Given the description of an element on the screen output the (x, y) to click on. 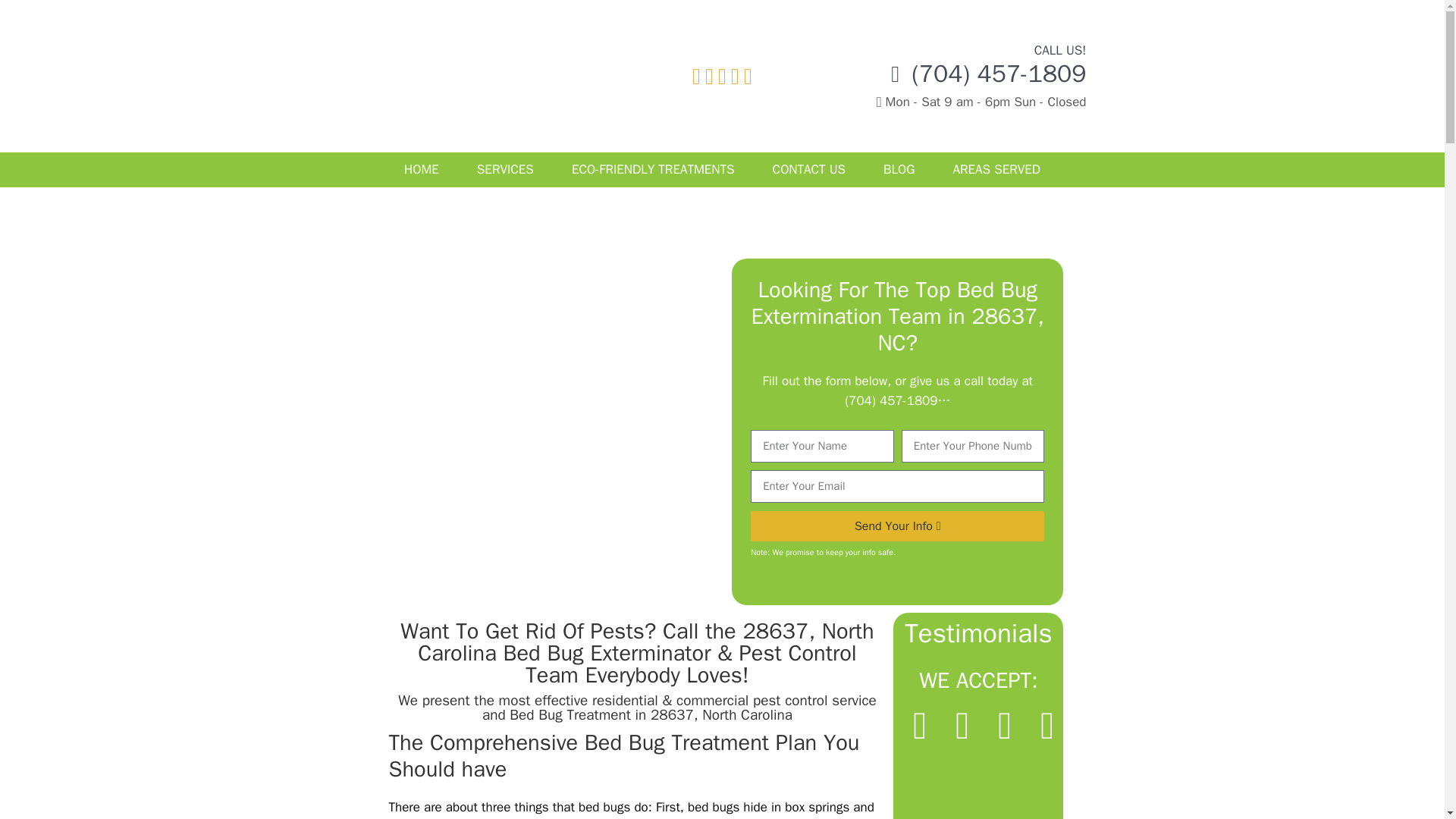
CONTACT US (809, 169)
AREAS SERVED (996, 169)
BLOG (898, 169)
SERVICES (505, 169)
HOME (421, 169)
ECO-FRIENDLY TREATMENTS (653, 169)
